Given the description of an element on the screen output the (x, y) to click on. 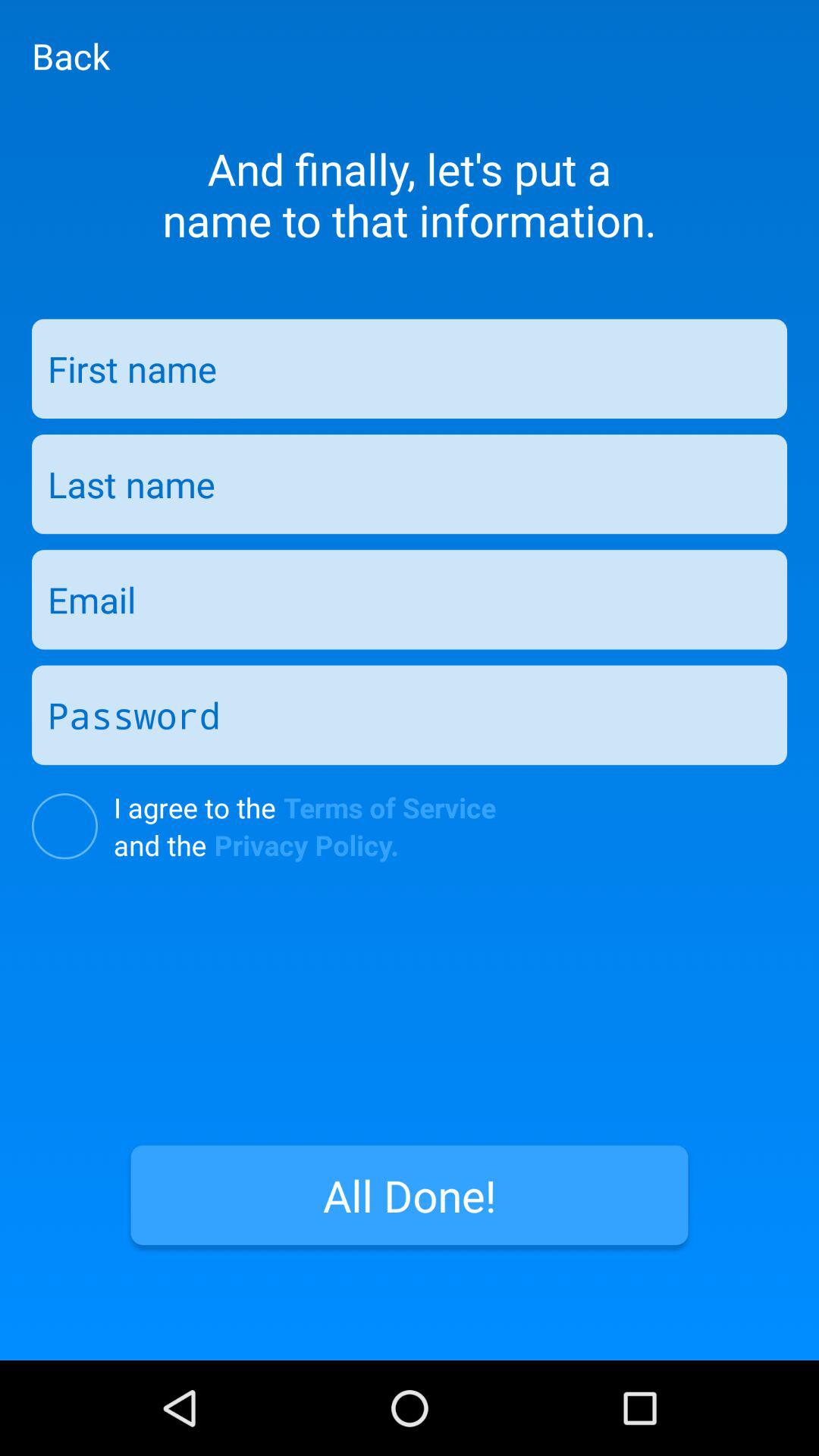
enter password (409, 714)
